Given the description of an element on the screen output the (x, y) to click on. 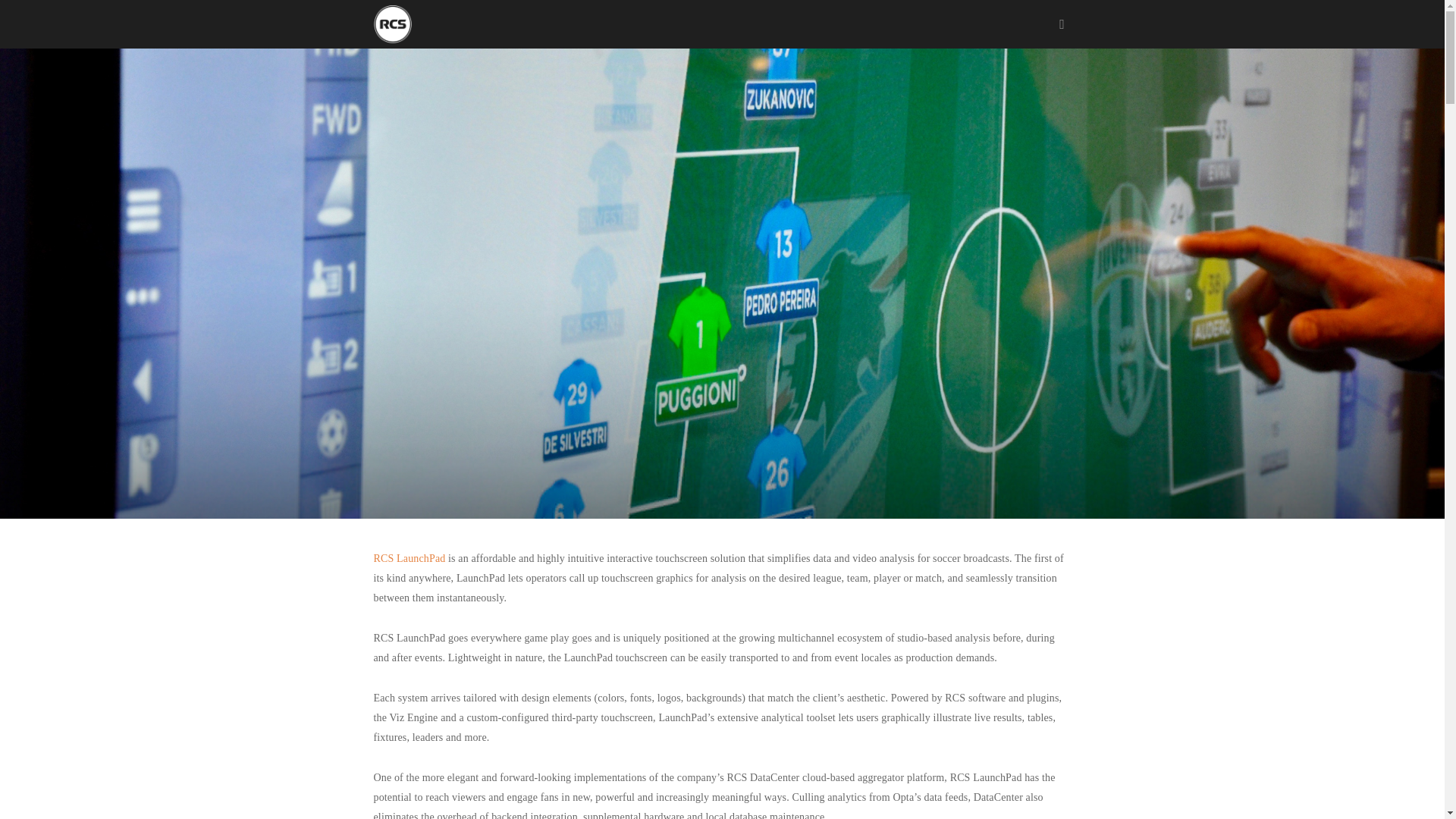
RCS LaunchPad (408, 558)
